Given the description of an element on the screen output the (x, y) to click on. 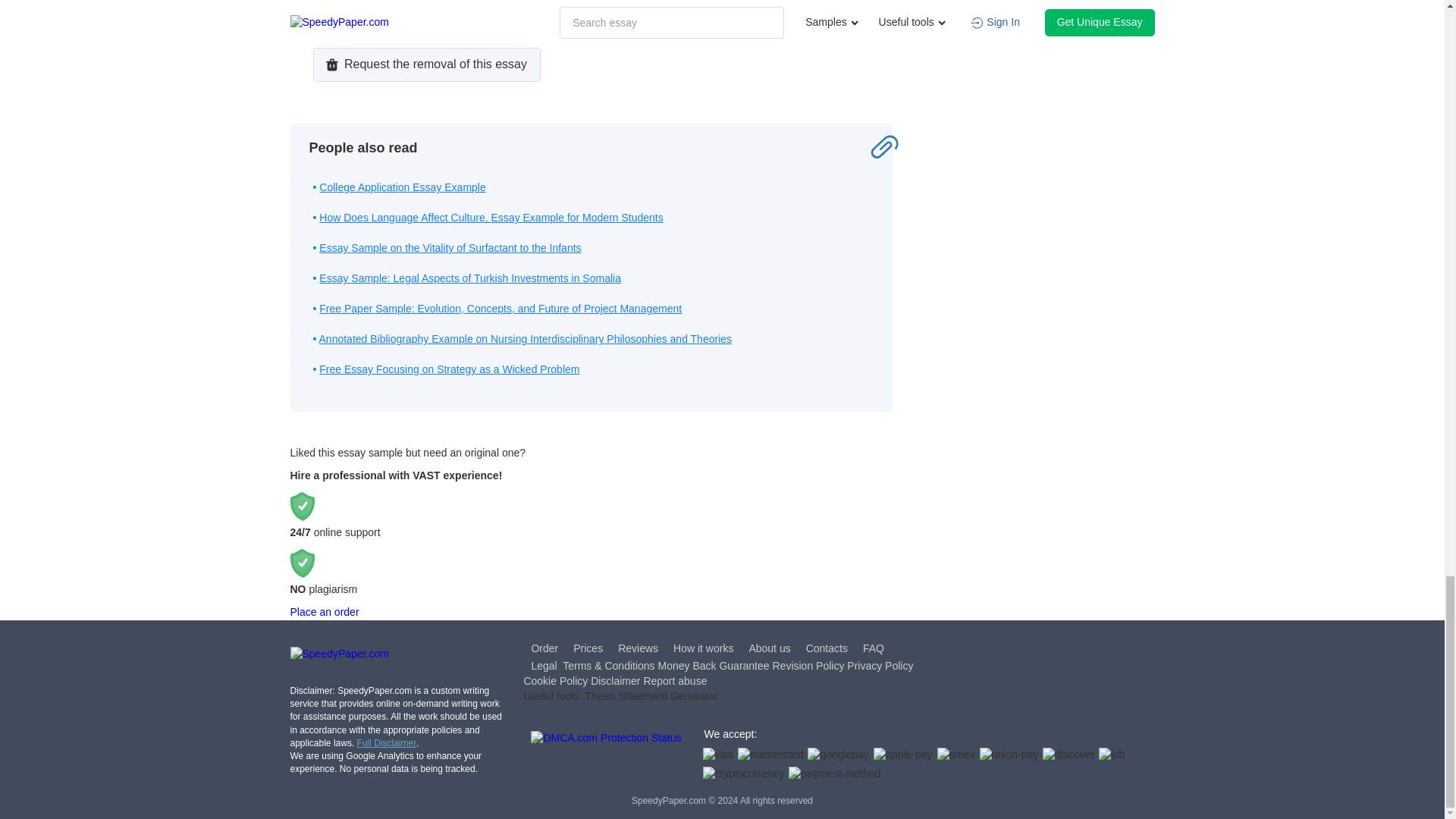
mastercard (770, 754)
apple-pay (903, 754)
googlepay (838, 754)
union-pay (1009, 754)
cryptocurrency (742, 773)
jcb (1111, 754)
payment-method (834, 773)
amex (956, 754)
discover (1068, 754)
DMCA.com Protection Status (606, 756)
visa (717, 754)
